Given the description of an element on the screen output the (x, y) to click on. 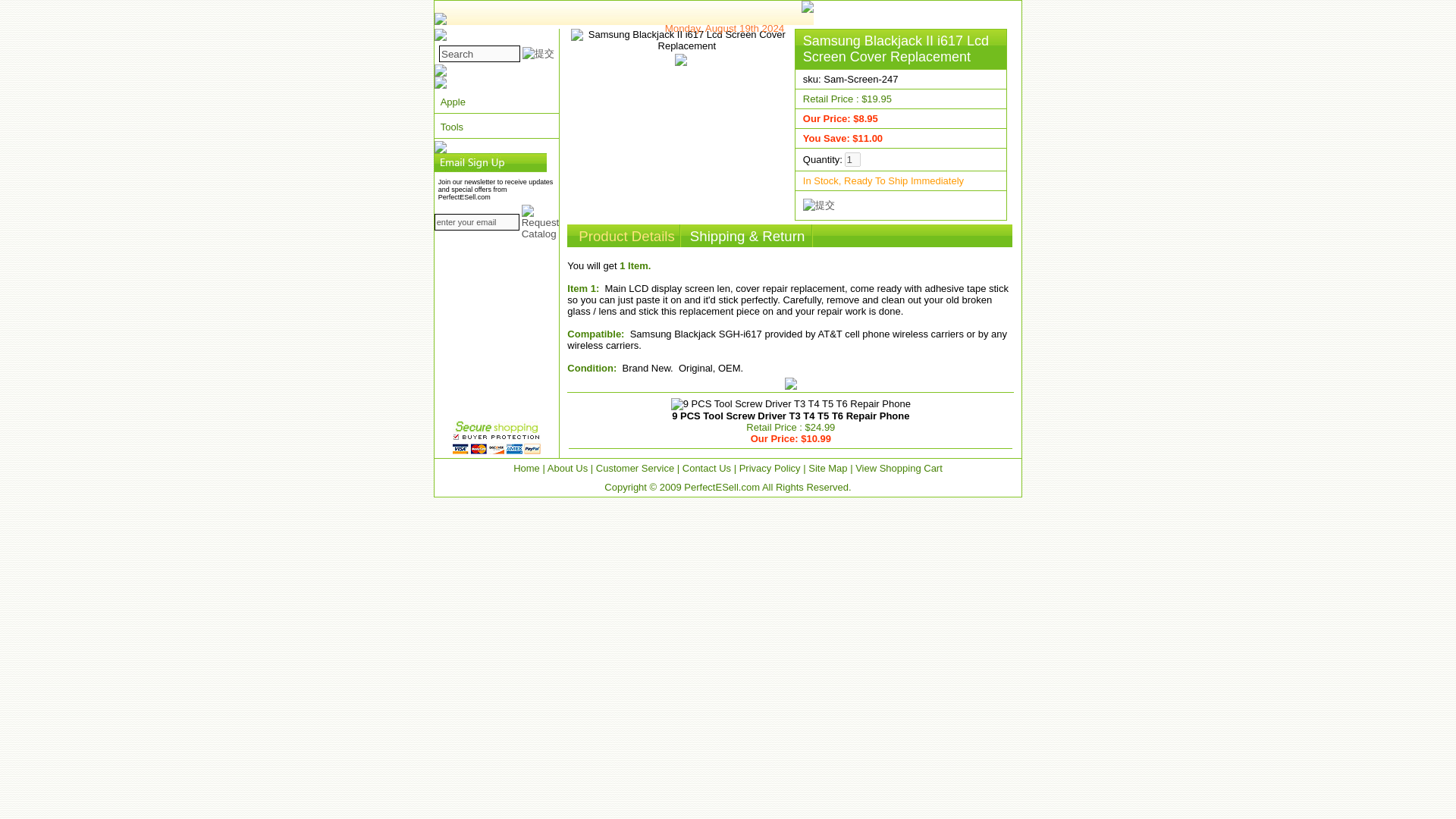
Privacy Policy (769, 468)
9 PCS Tool Screw Driver T3 T4 T5 T6 Repair Phone (791, 404)
Home (526, 468)
Tools (496, 127)
1 (852, 159)
View Shopping Cart (899, 468)
Search (479, 53)
Contact Us (706, 468)
Site Map (827, 468)
9 PCS Tool Screw Driver T3 T4 T5 T6 Repair Phone (789, 415)
